Given the description of an element on the screen output the (x, y) to click on. 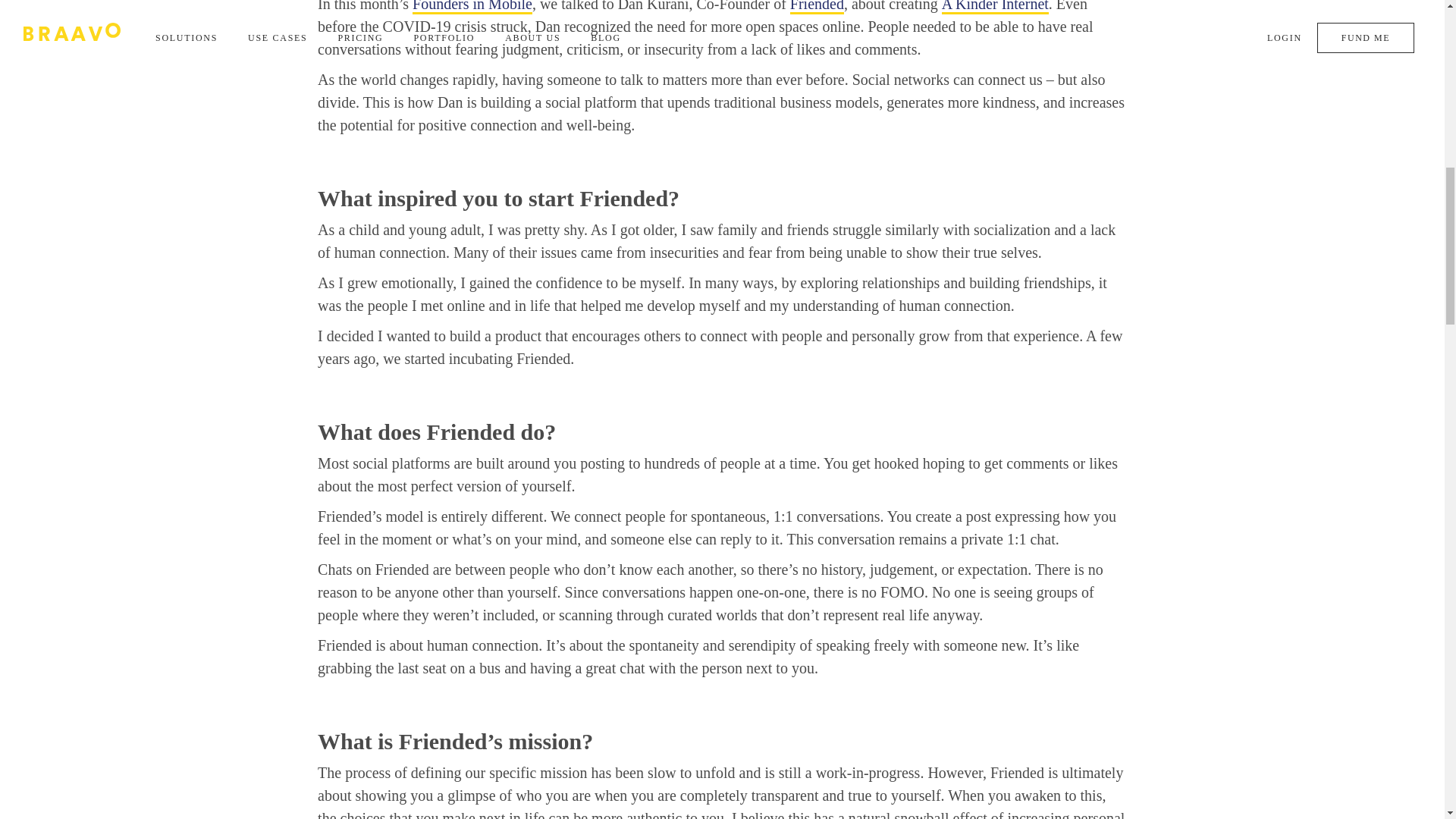
Friended (817, 7)
A Kinder Internet (995, 7)
Founders in Mobile (472, 7)
